Given the description of an element on the screen output the (x, y) to click on. 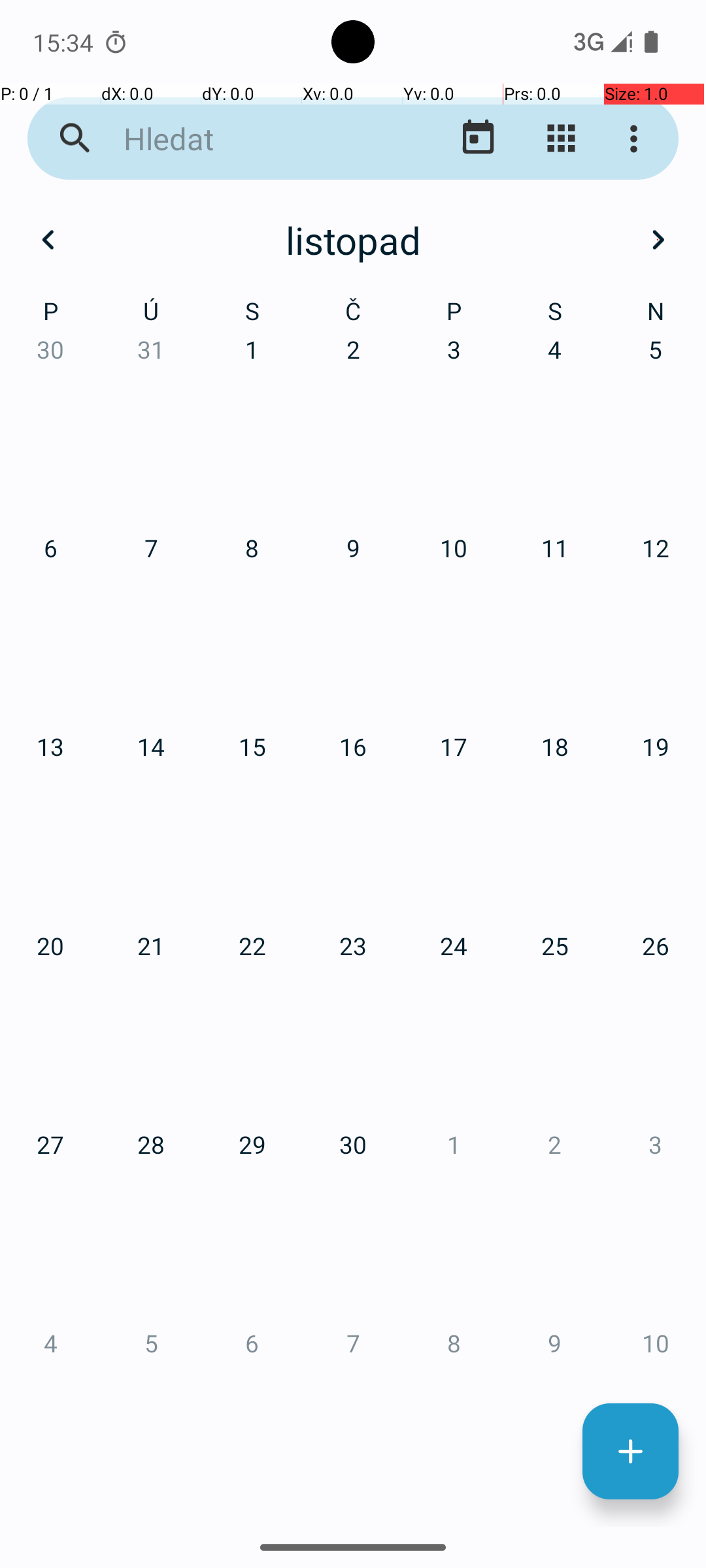
listopad Element type: android.widget.TextView (352, 239)
